Given the description of an element on the screen output the (x, y) to click on. 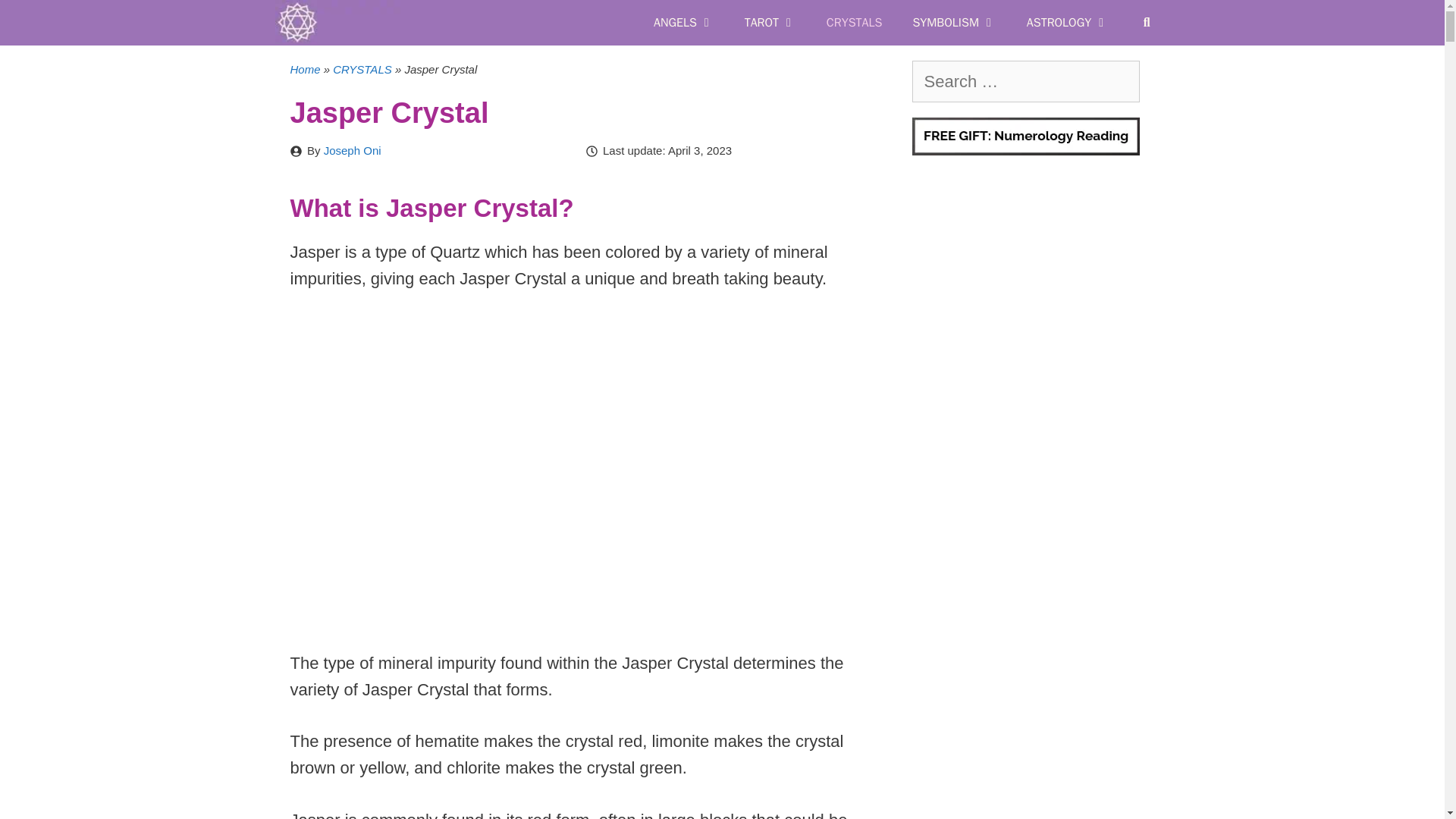
TAROT (769, 22)
SYMBOLISM (953, 22)
Search for: (1024, 81)
ANGELS (684, 22)
ASTROLOGY (1067, 22)
CRYSTALS (854, 22)
